Given the description of an element on the screen output the (x, y) to click on. 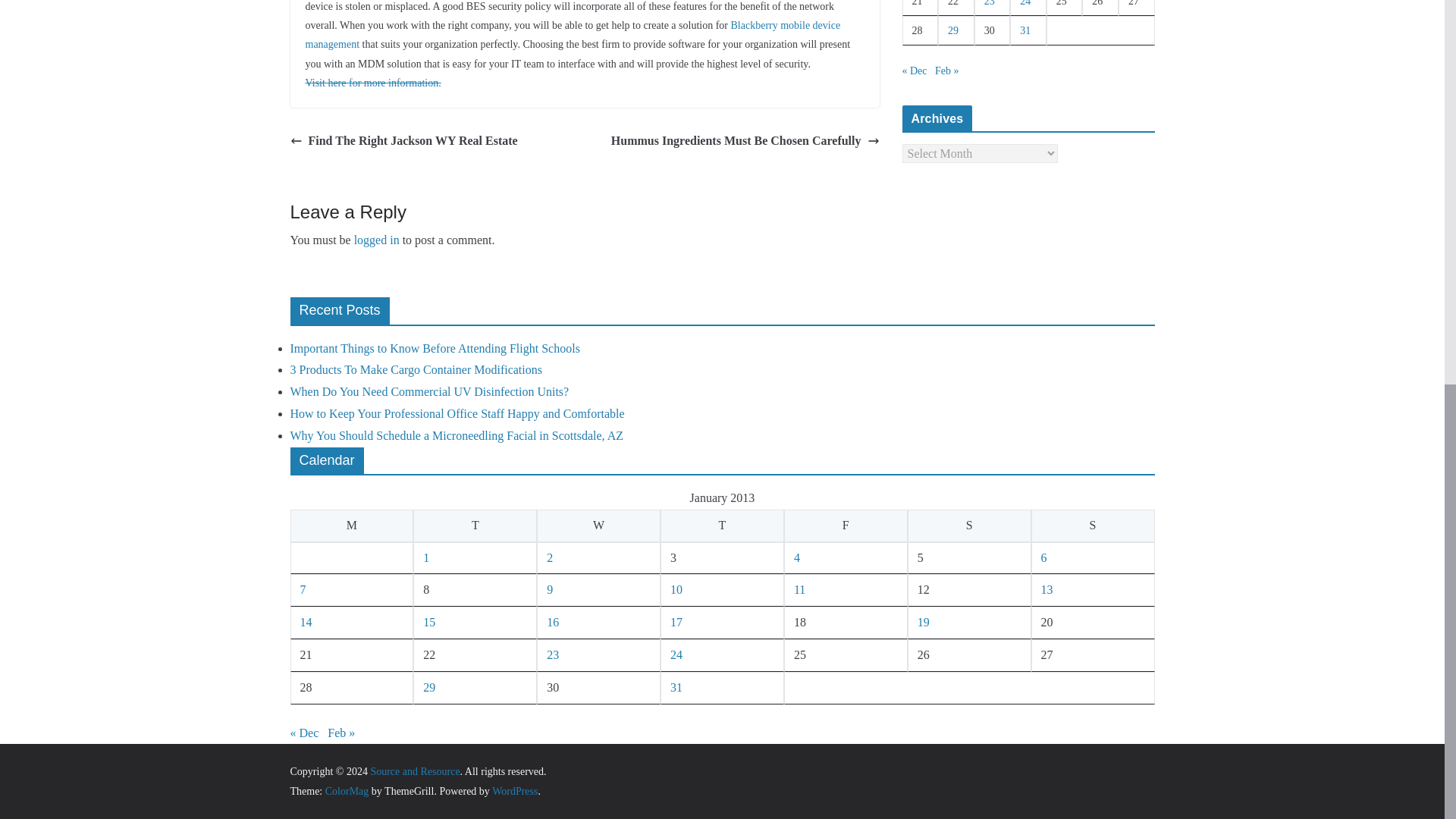
29 (952, 30)
Hummus Ingredients Must Be Chosen Carefully (745, 141)
Blackberry mobile device management (572, 34)
Visit here for more information. (372, 82)
Get more on Blackberry mobile device management (572, 34)
logged in (375, 239)
Bes security policy, Bes security policy (372, 82)
31 (1025, 30)
24 (1025, 3)
23 (989, 3)
